Given the description of an element on the screen output the (x, y) to click on. 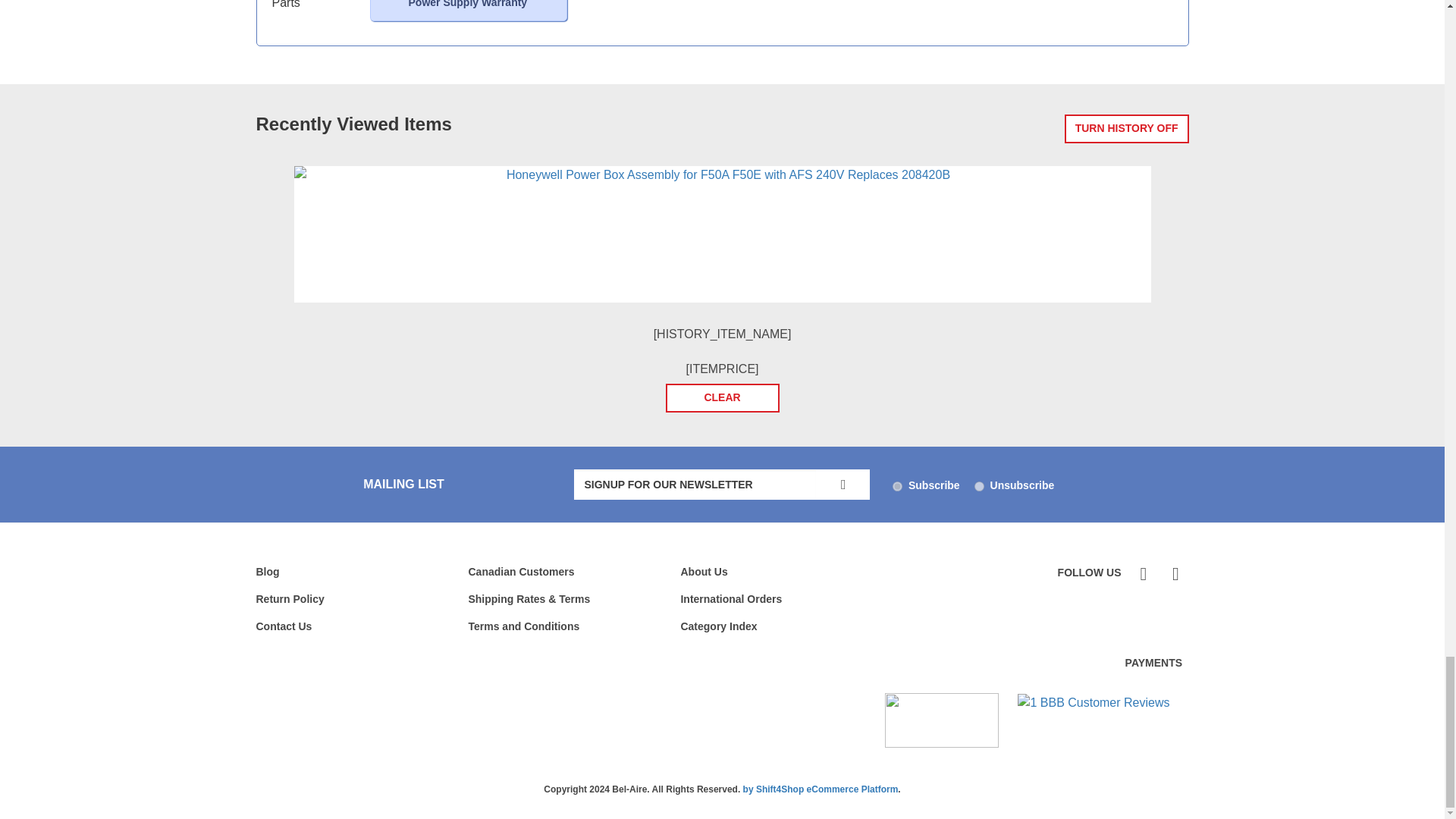
Like Us on Facebook (1142, 573)
0 (979, 486)
Bel-Aire Company BBB Customer Reviews (1093, 701)
Subscribe to our Channel (1173, 573)
1 (897, 486)
